Given the description of an element on the screen output the (x, y) to click on. 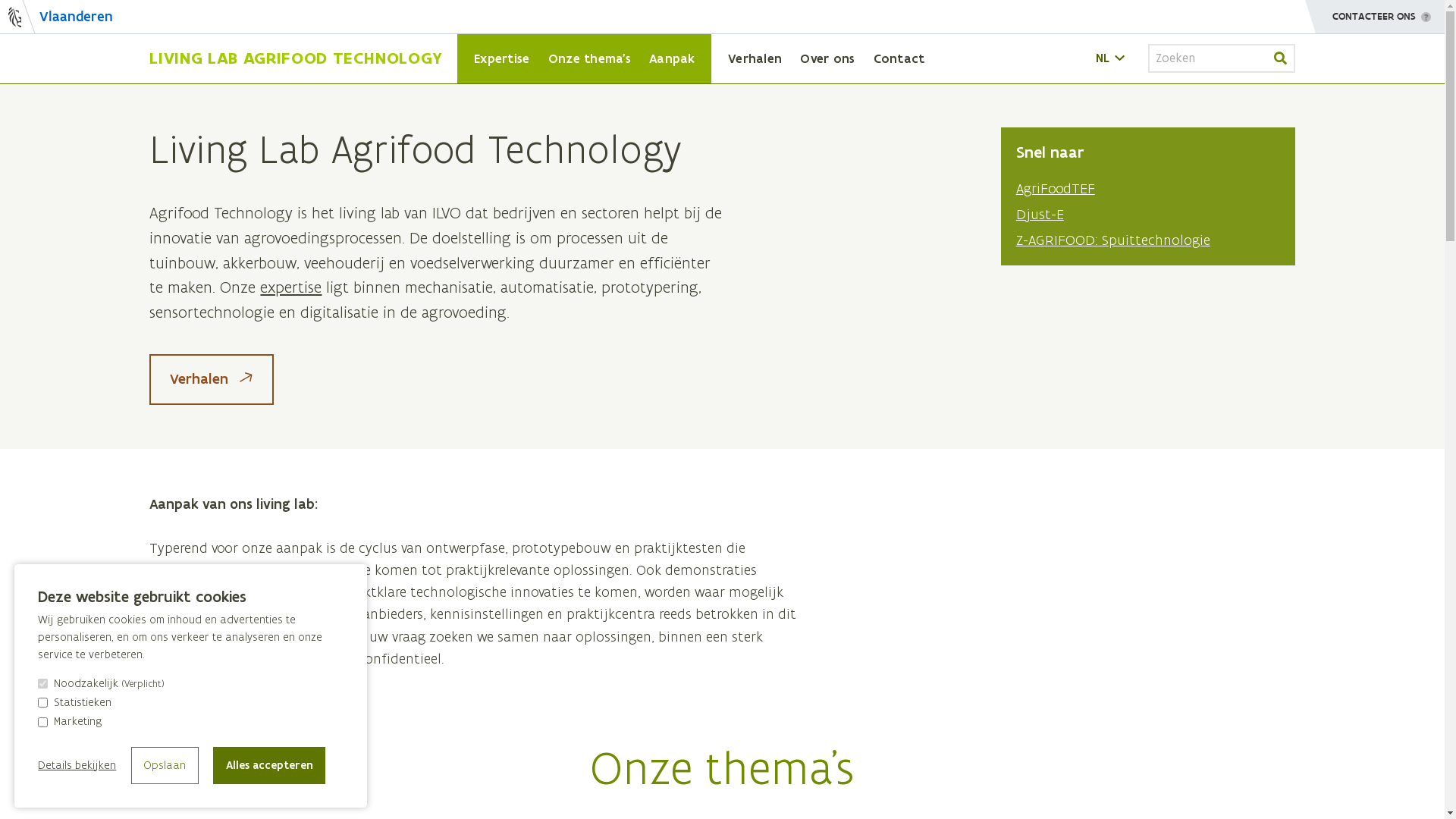
Details bekijken Element type: text (76, 765)
Z-AGRIFOOD: Spuittechnologie Element type: text (1113, 239)
Contact Element type: text (899, 58)
Over ons Element type: text (827, 58)
Verhalen Element type: text (754, 58)
Zoeken Element type: text (1280, 58)
TOON MENU
CONTACTEER ONS Element type: text (1374, 16)
Alles accepteren Element type: text (269, 764)
NL Element type: text (1110, 58)
Vlaanderen Element type: text (56, 16)
LIVING LAB AGRIFOOD TECHNOLOGY Element type: text (295, 58)
Expertise Element type: text (501, 58)
Djust-E Element type: text (1039, 213)
AgriFoodTEF Element type: text (1055, 188)
Aanpak Element type: text (672, 58)
expertise Element type: text (290, 286)
Opslaan Element type: text (164, 764)
Verhalen Element type: text (211, 379)
Onze thema's Element type: text (589, 58)
